Given the description of an element on the screen output the (x, y) to click on. 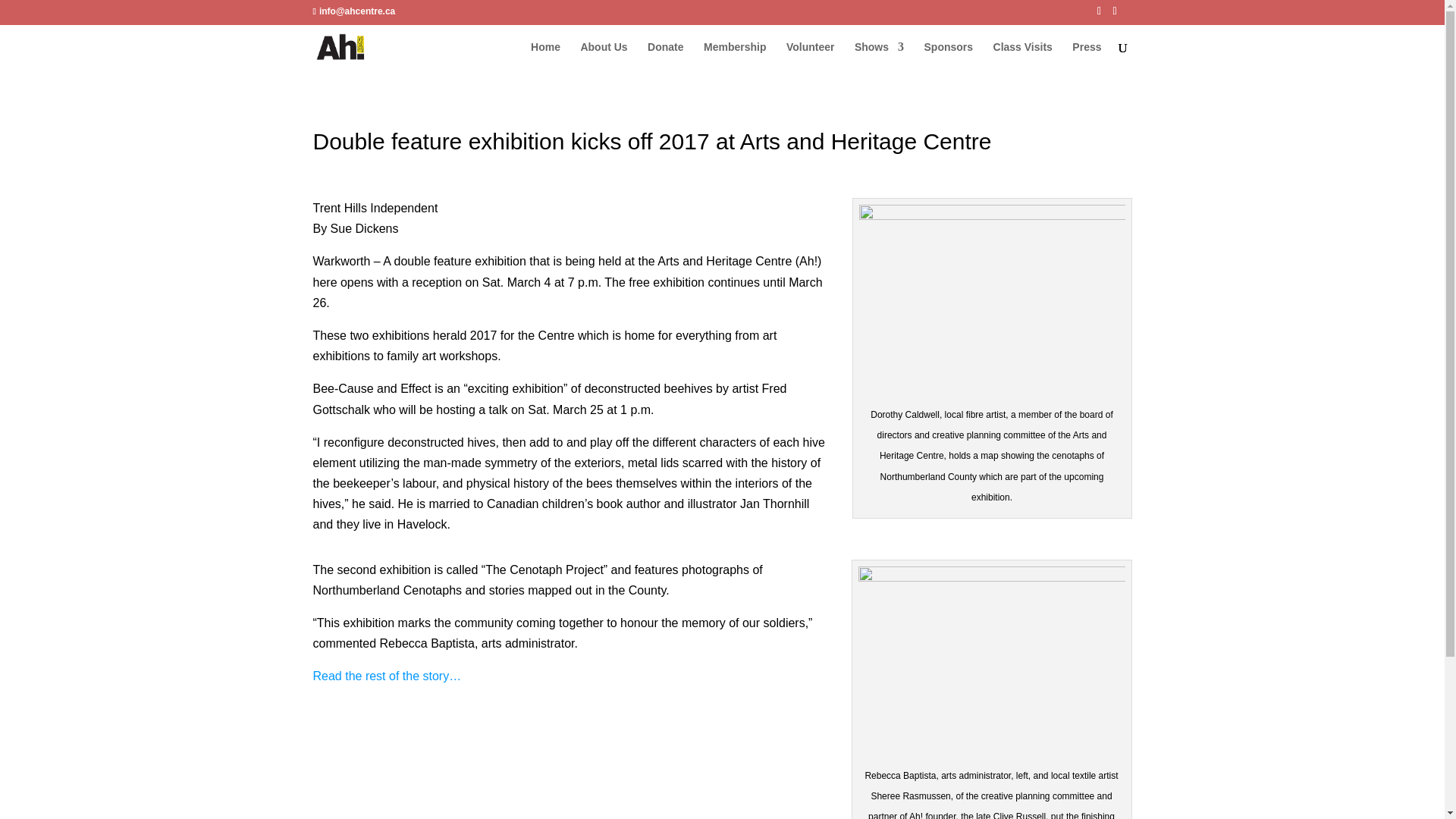
Press (1085, 56)
Sponsors (947, 56)
Volunteer (810, 56)
Shows (879, 56)
About Us (603, 56)
Home (545, 56)
Donate (664, 56)
Class Visits (1022, 56)
Membership (734, 56)
